Given the description of an element on the screen output the (x, y) to click on. 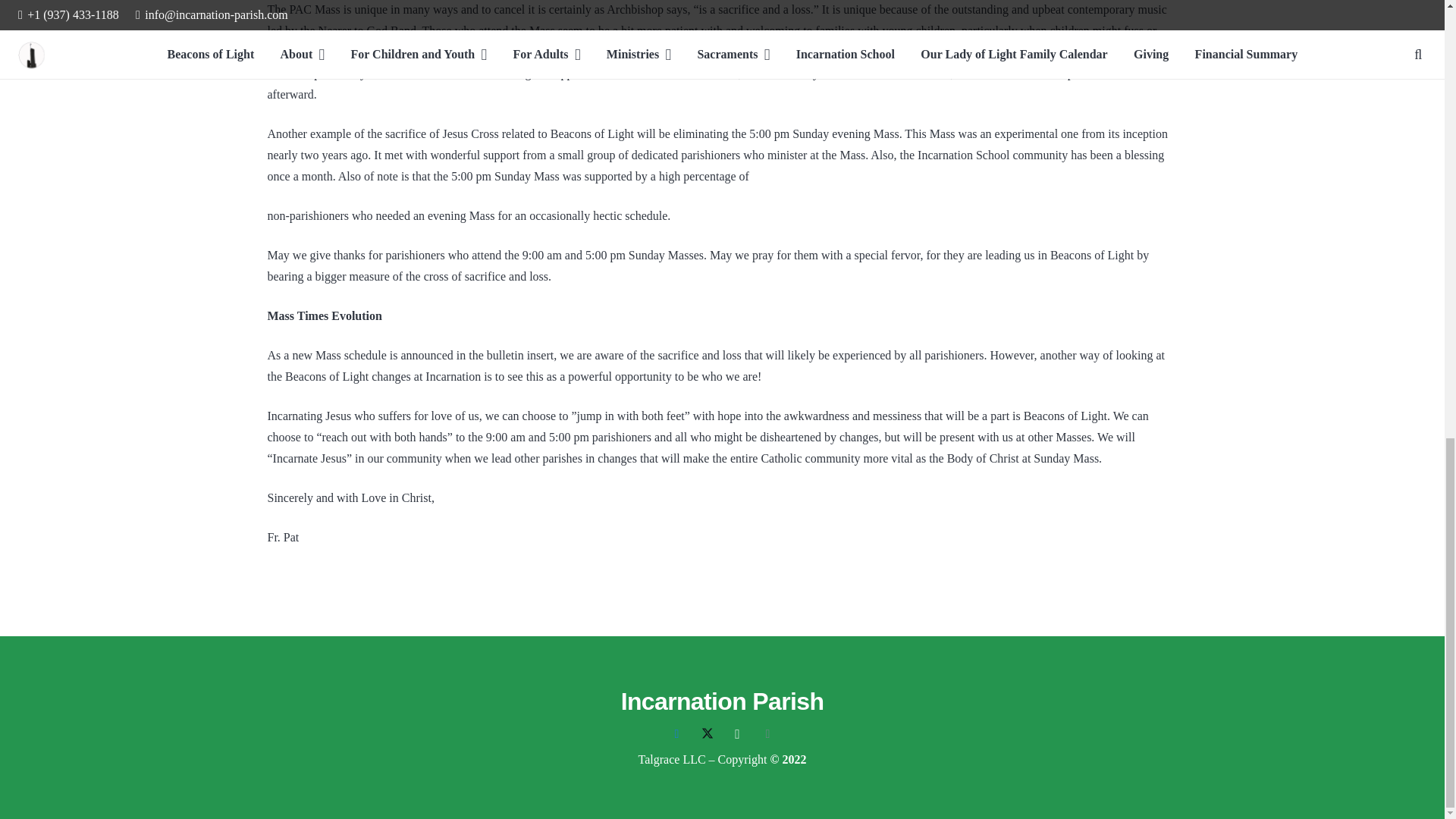
Facebook (676, 734)
Instagram (737, 734)
Twitter (706, 734)
Flock Note (767, 734)
